Given the description of an element on the screen output the (x, y) to click on. 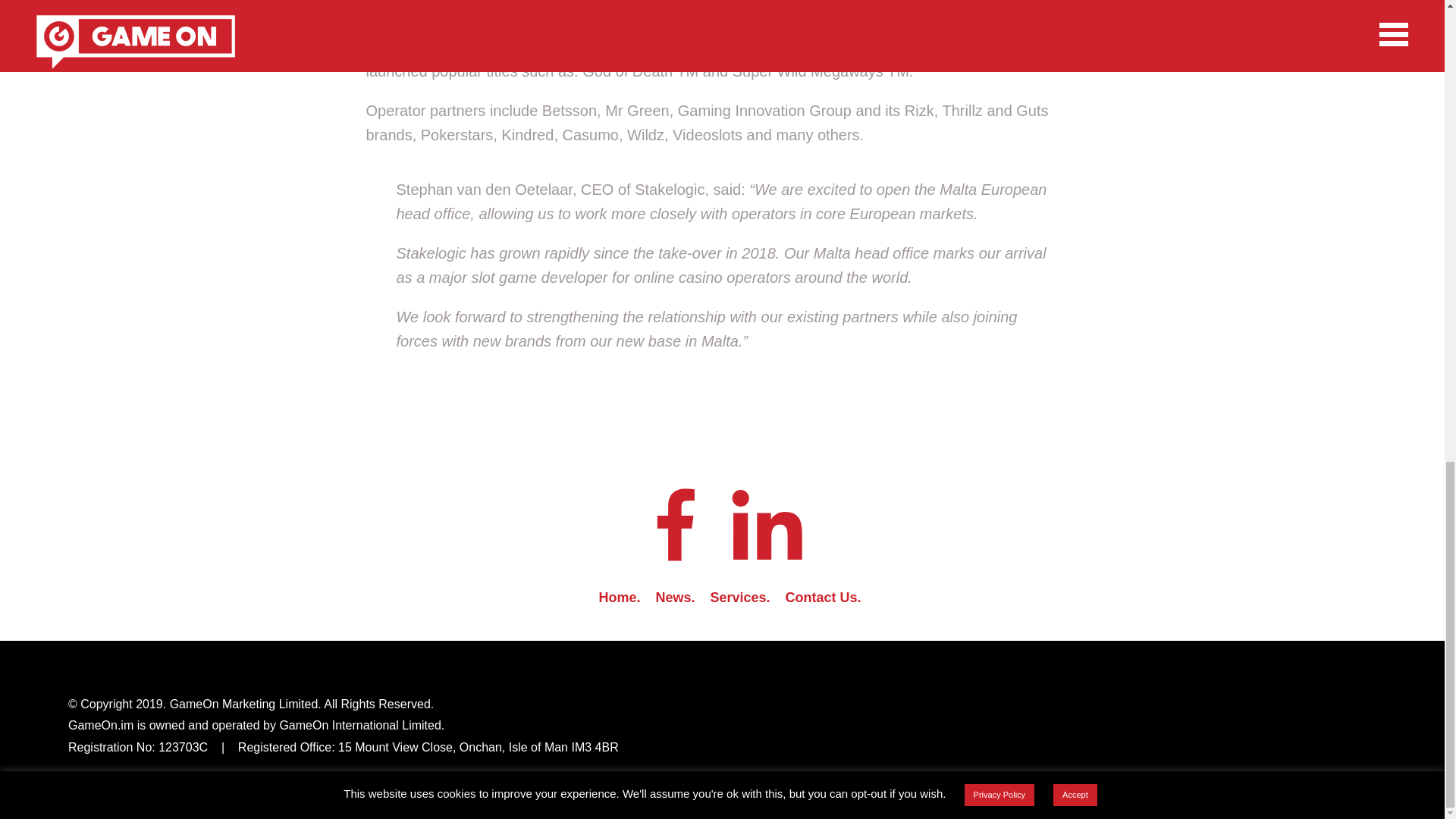
Home. (619, 597)
Services. (740, 597)
News. (674, 597)
Contact Us. (823, 597)
